Given the description of an element on the screen output the (x, y) to click on. 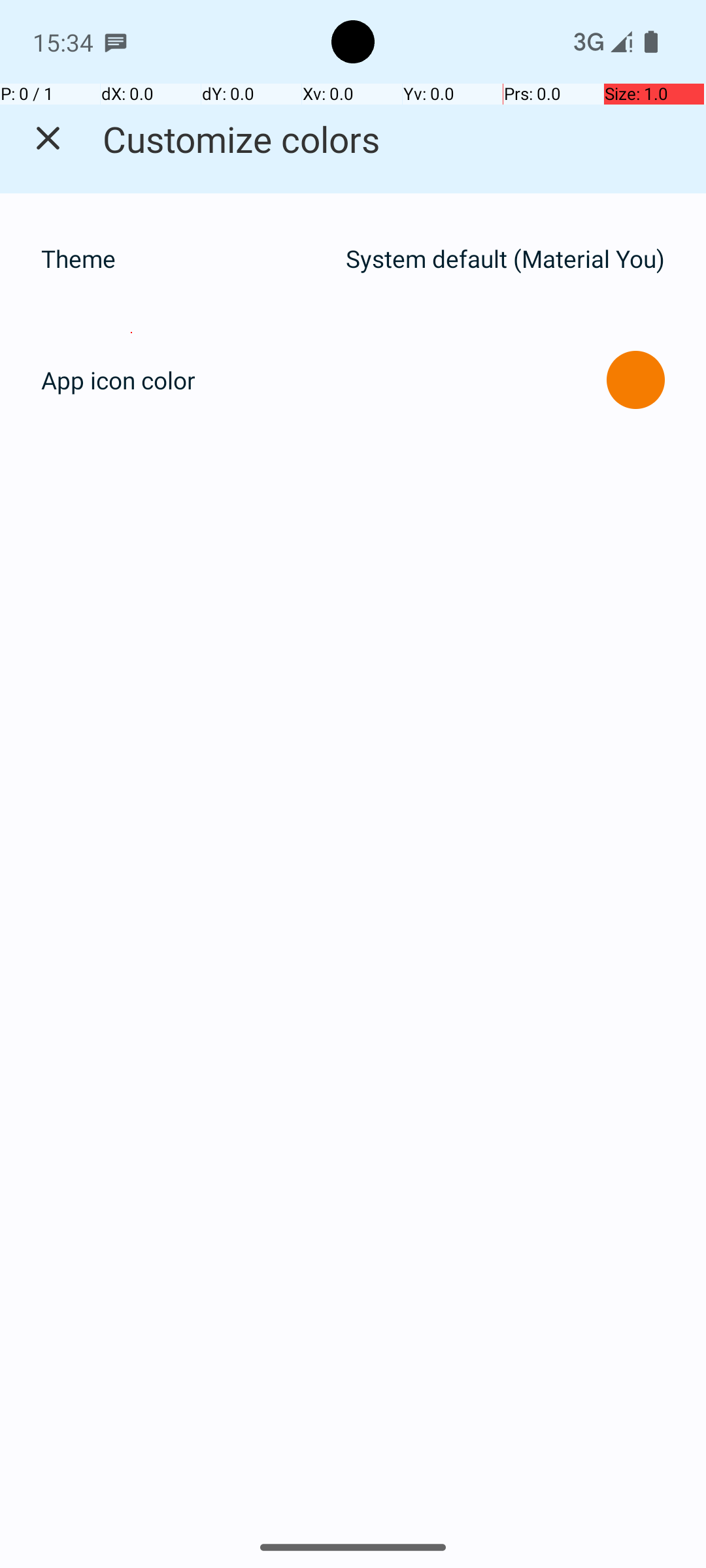
System default (Material You) Element type: android.widget.TextView (504, 258)
App icon color Element type: android.widget.TextView (118, 379)
